Given the description of an element on the screen output the (x, y) to click on. 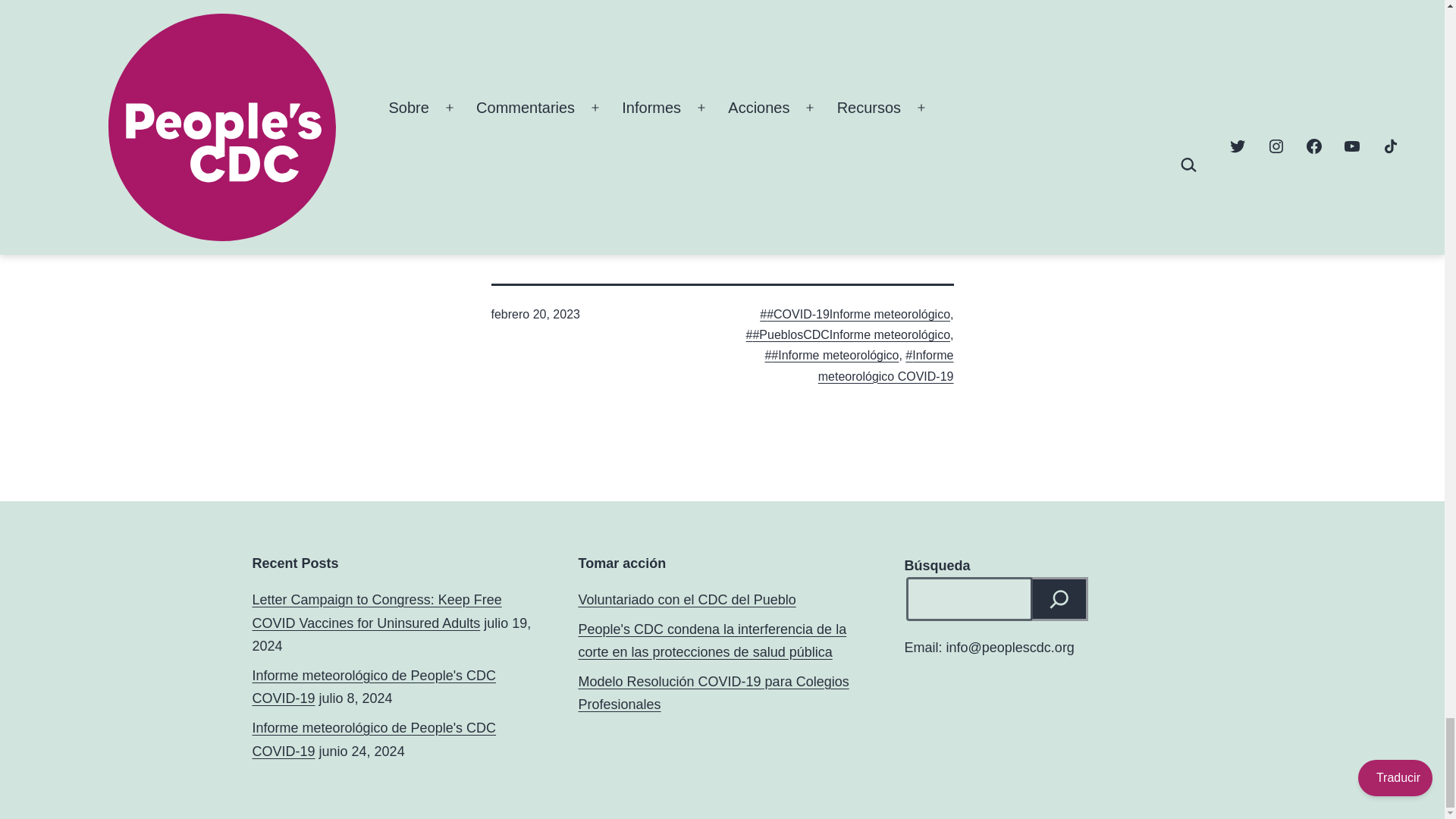
Twitter (835, 175)
Facebook (805, 175)
Copiar link (895, 175)
